Given the description of an element on the screen output the (x, y) to click on. 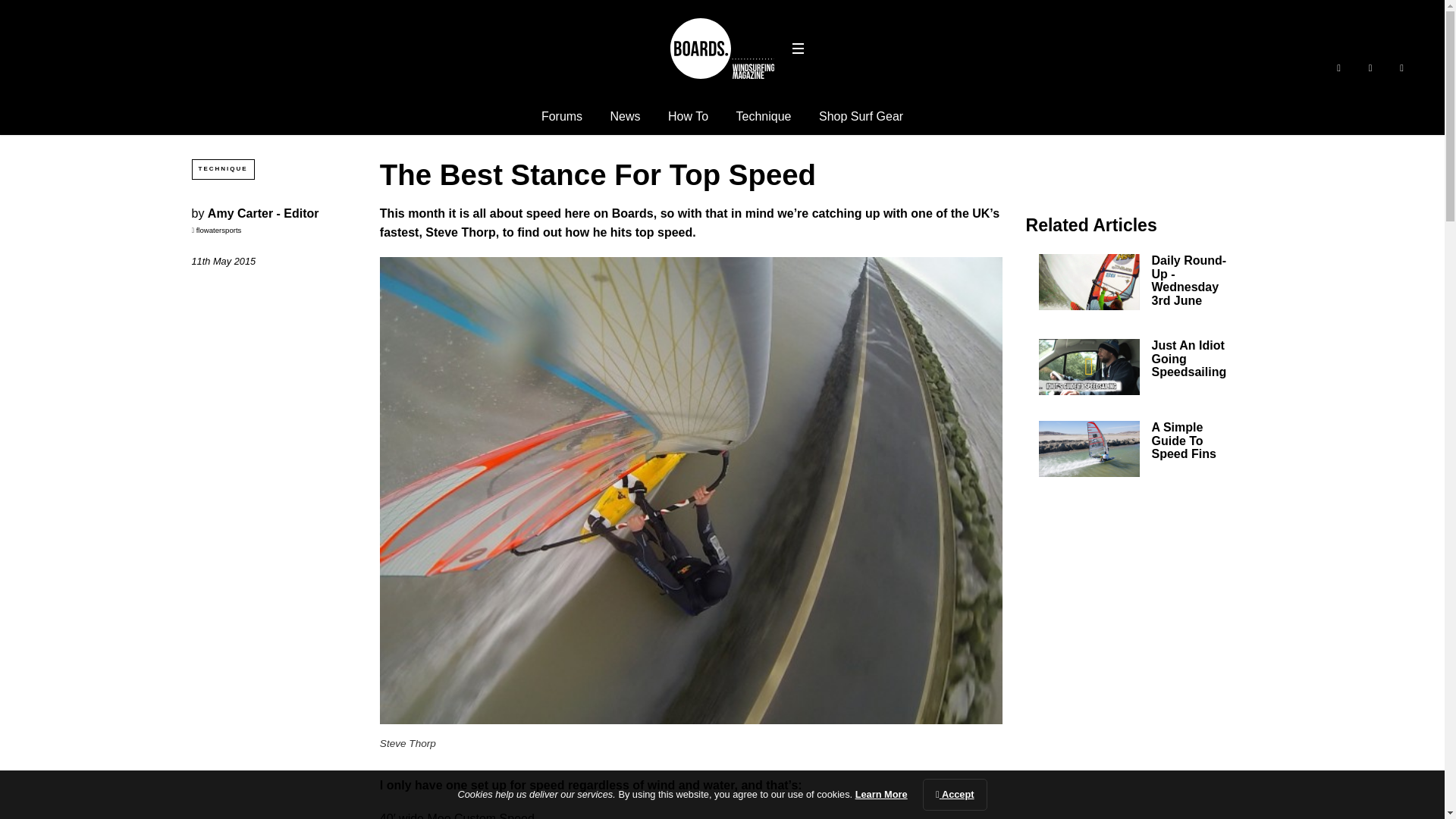
How To (687, 115)
Shop Surf Gear (860, 115)
Find us on Facebook (1338, 66)
Follow us on Twitter (1370, 66)
Menu (797, 47)
News (625, 115)
Technique (764, 115)
Forums (561, 115)
Find us on Instagram (1400, 66)
